Given the description of an element on the screen output the (x, y) to click on. 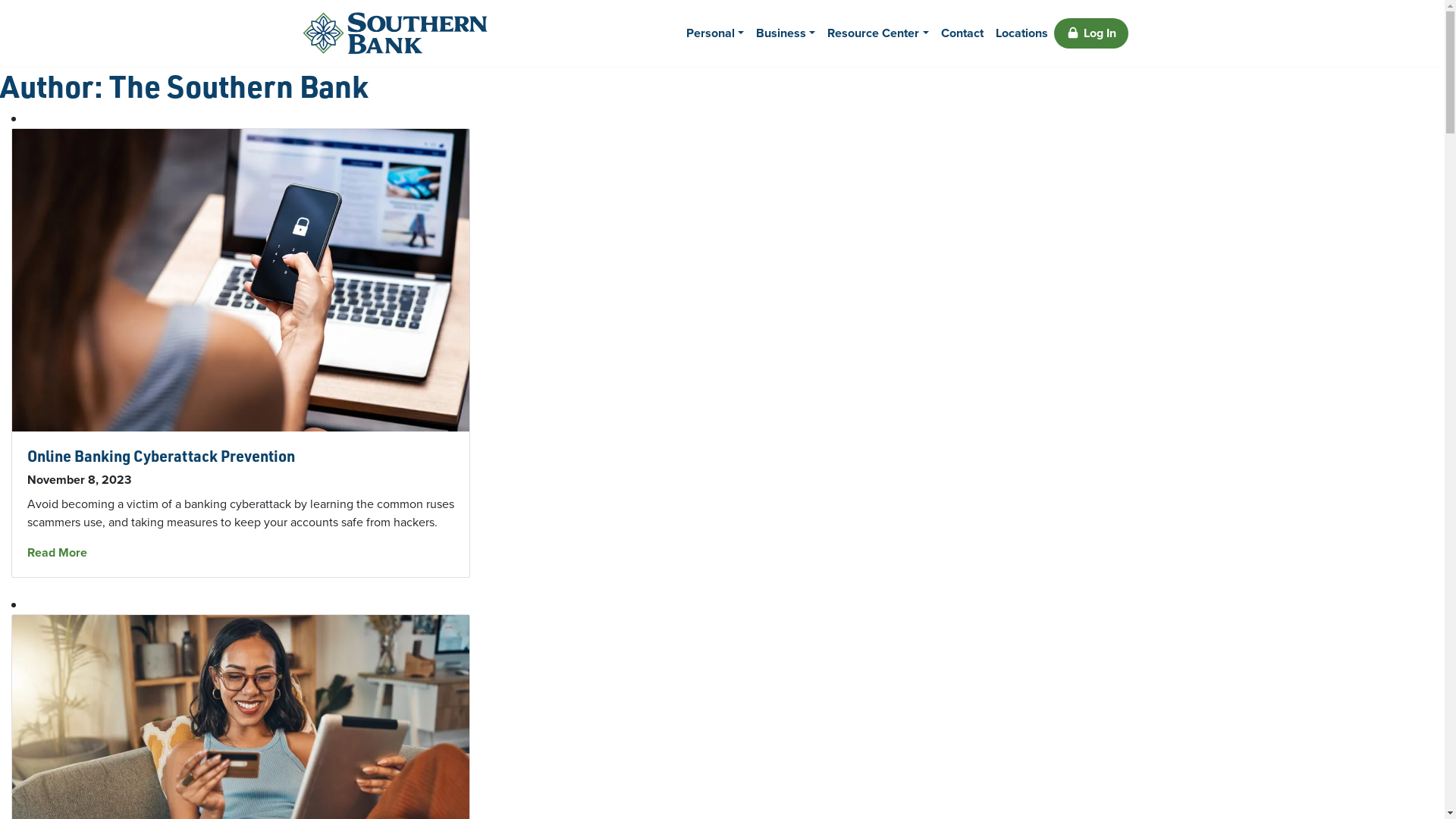
Personal Element type: text (714, 33)
Business Element type: text (785, 33)
Contact Element type: text (961, 33)
Log In Element type: text (1091, 33)
Resource Center Element type: text (877, 33)
Locations Element type: text (1020, 33)
Read More
about Online Banking Cyberattack Prevention Element type: text (57, 552)
